Given the description of an element on the screen output the (x, y) to click on. 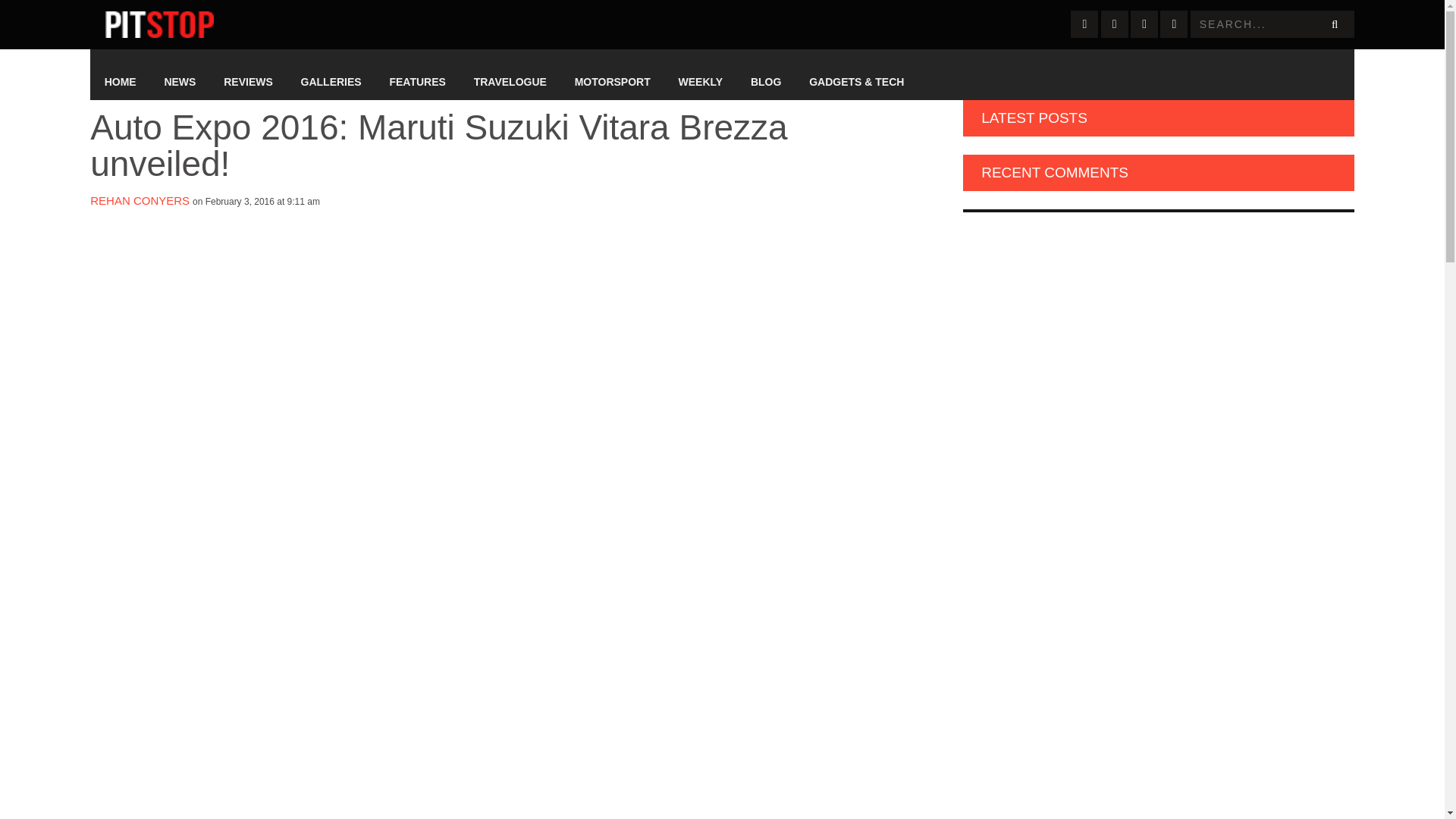
REHAN CONYERS (139, 200)
Posts by Rehan Conyers (139, 200)
WEEKLY (699, 82)
REVIEWS (247, 82)
FEATURES (417, 82)
BLOG (765, 82)
HOME (119, 82)
NEWS (179, 82)
TRAVELOGUE (510, 82)
Pitstop (159, 24)
MOTORSPORT (611, 82)
GALLERIES (330, 82)
